Given the description of an element on the screen output the (x, y) to click on. 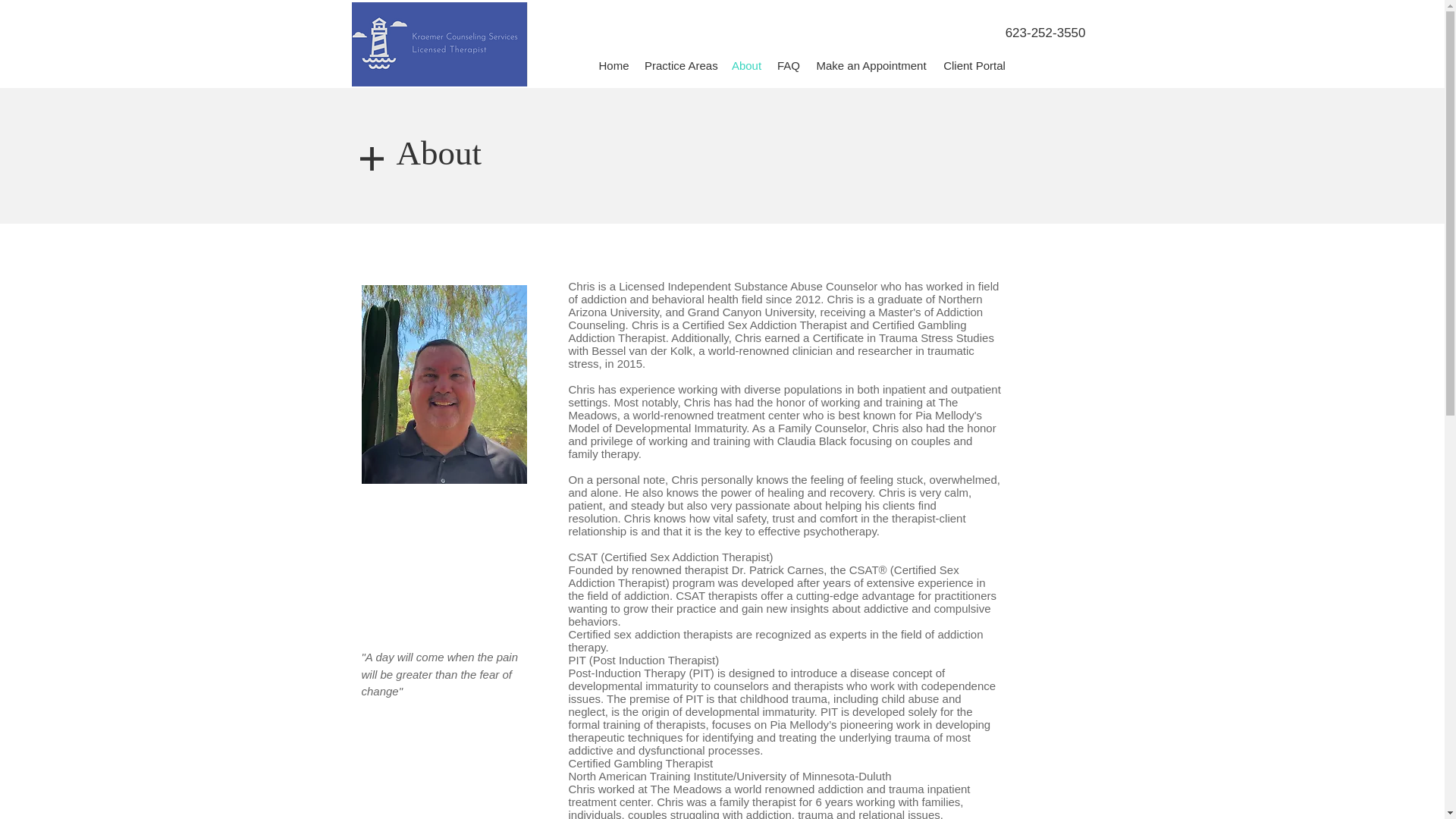
FAQ (789, 65)
Home (614, 65)
About (746, 65)
Practice Areas (680, 65)
Make an Appointment (871, 65)
Client Portal (973, 65)
